Given the description of an element on the screen output the (x, y) to click on. 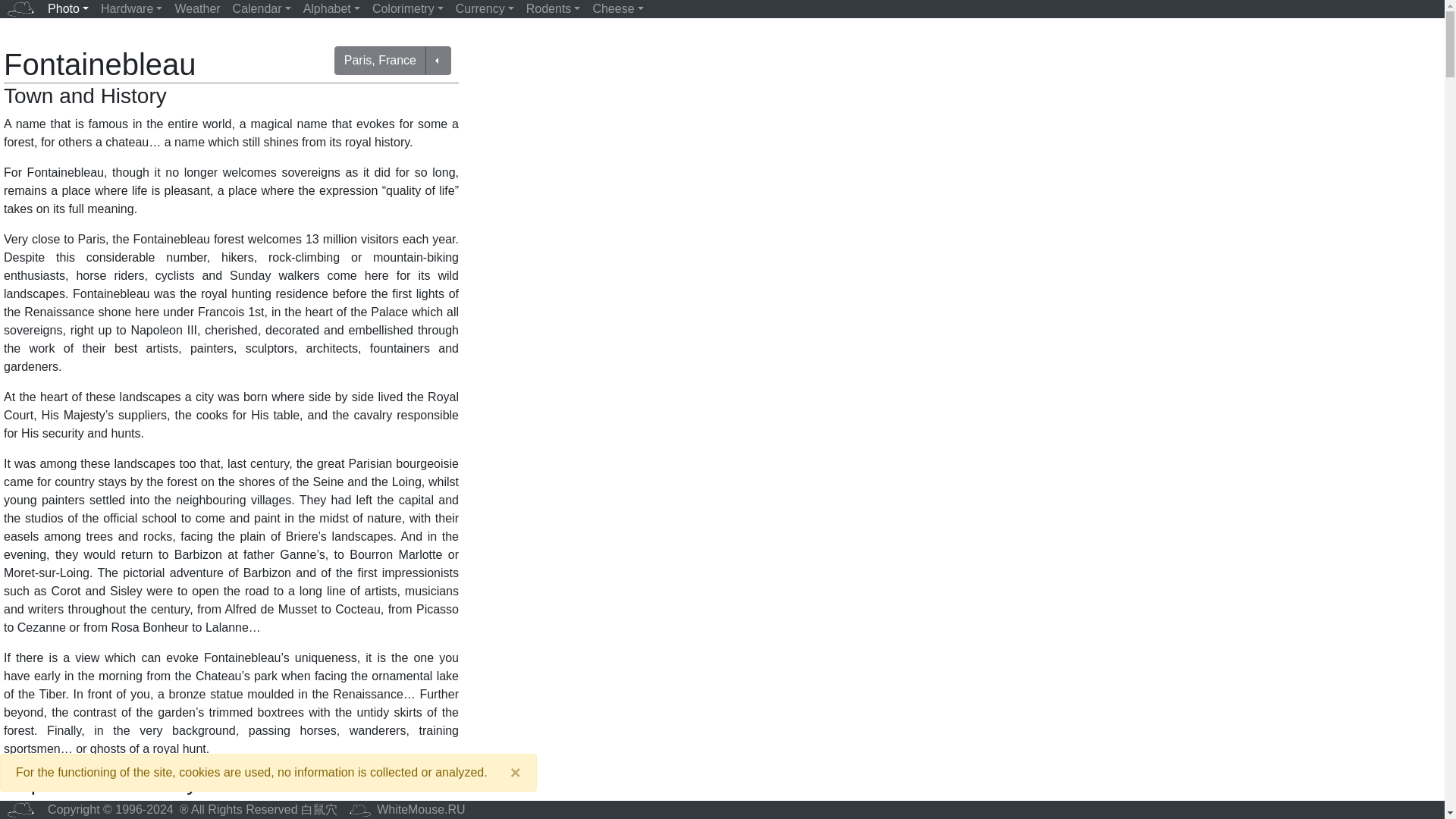
Calendar (262, 9)
Alphabet (331, 9)
Hardware (131, 9)
White Mouse Burrow Feedback (407, 809)
Weather (196, 9)
Photo (68, 9)
